Given the description of an element on the screen output the (x, y) to click on. 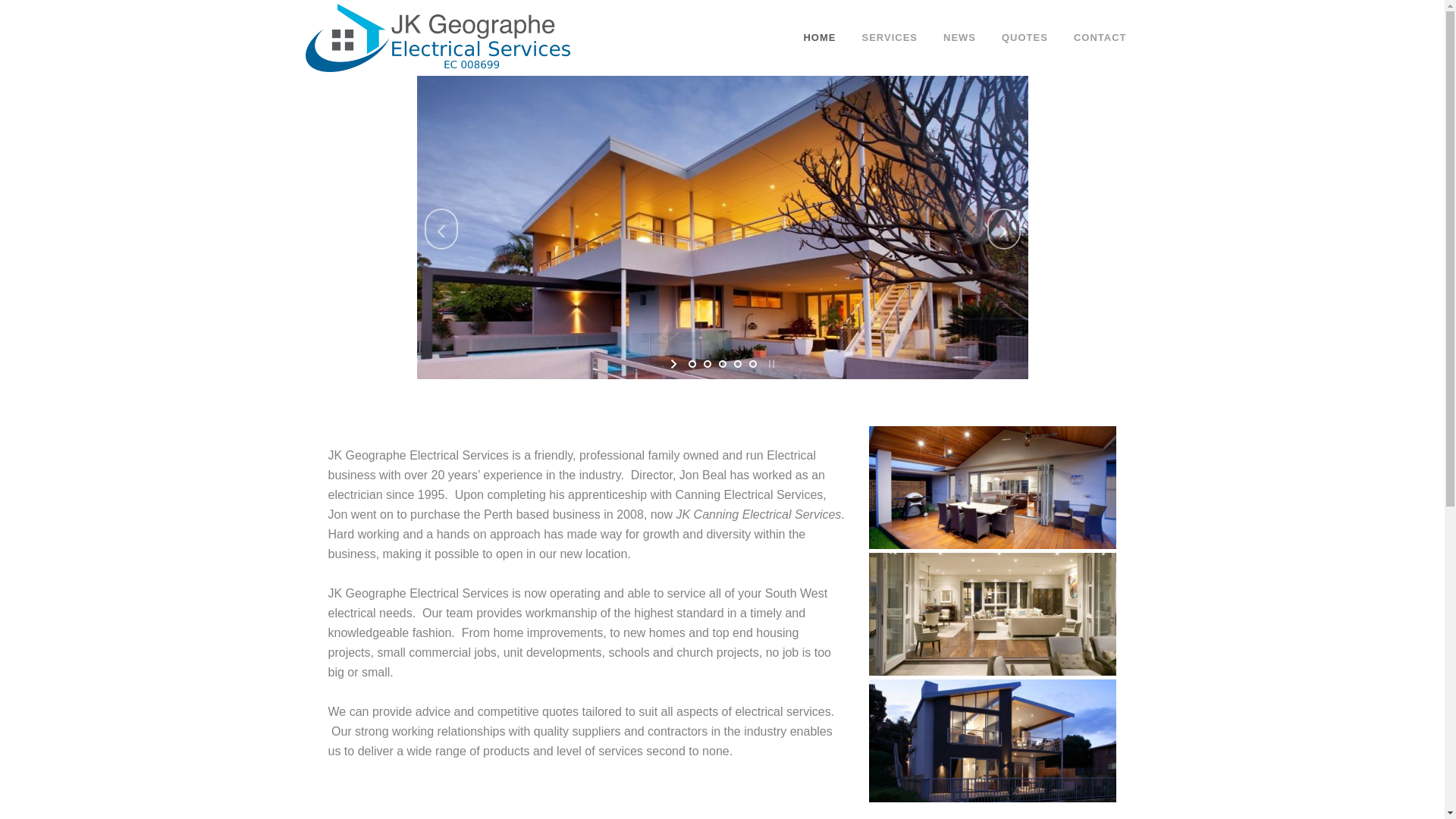
NEWS Element type: text (959, 37)
CONTACT Element type: text (1099, 37)
HOME Element type: text (819, 37)
SERVICES Element type: text (889, 37)
QUOTES Element type: text (1024, 37)
